Given the description of an element on the screen output the (x, y) to click on. 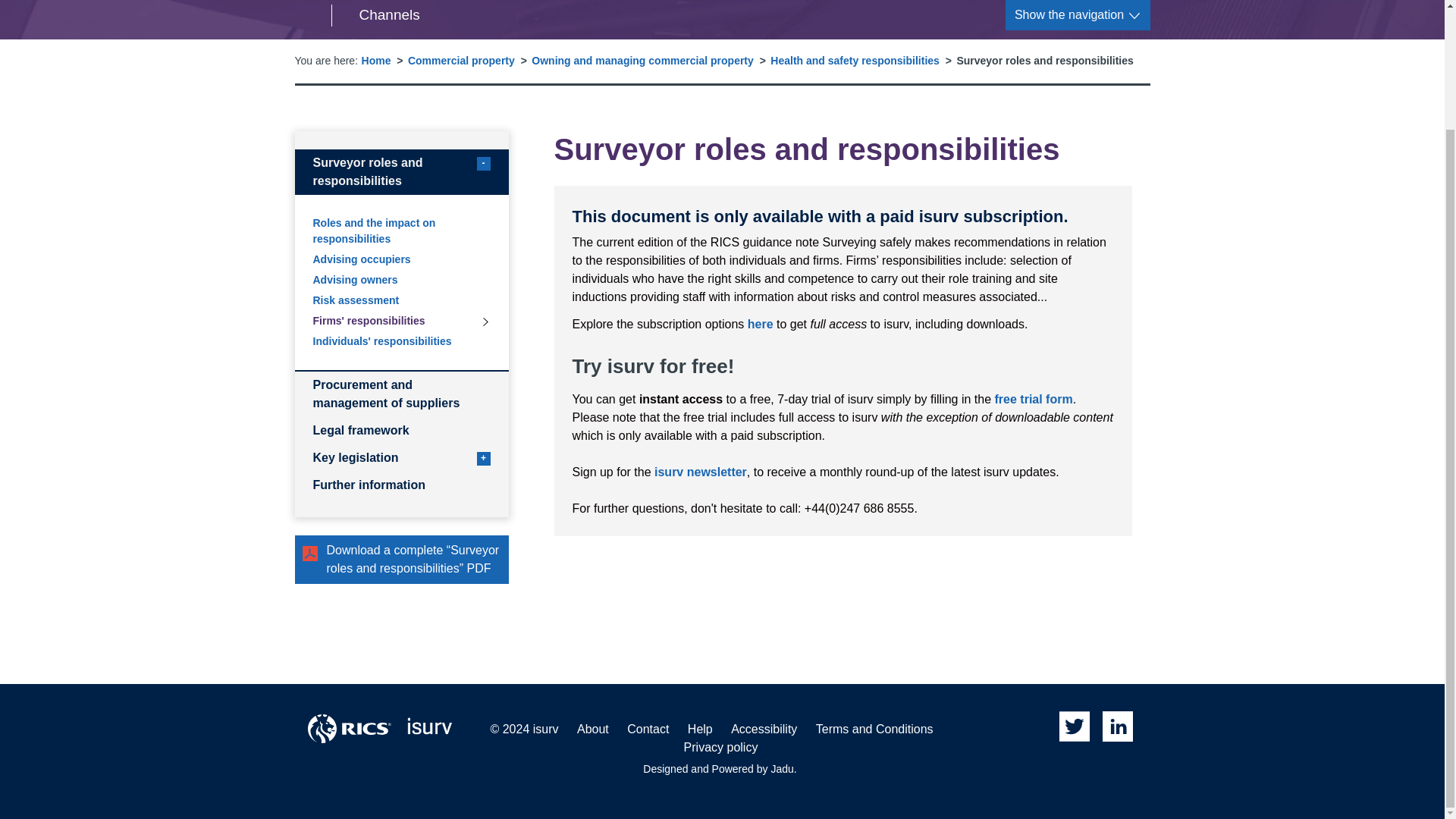
Procurement and management of suppliers (401, 393)
Advising occupiers (401, 259)
Individuals' responsibilities (401, 341)
Show the navigation (1078, 15)
here (760, 323)
Roles and the impact on responsibilities (401, 230)
Commercial property (461, 60)
Health and safety responsibilities (854, 60)
Risk assessment (401, 300)
Owning and managing commercial property (642, 60)
free trial form (1033, 399)
Channels (401, 171)
isurv newsletter (374, 15)
Home (699, 472)
